Given the description of an element on the screen output the (x, y) to click on. 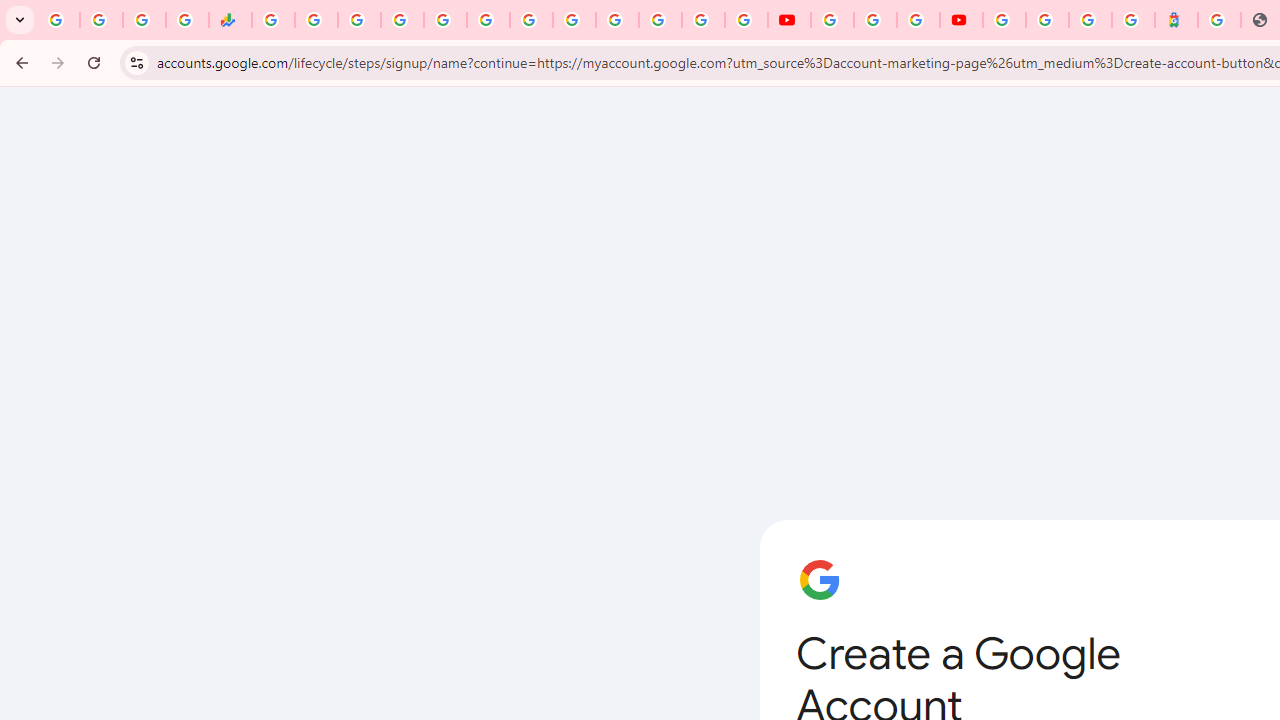
Sign in - Google Accounts (1004, 20)
YouTube (789, 20)
YouTube (832, 20)
Create your Google Account (918, 20)
Sign in - Google Accounts (1047, 20)
Atour Hotel - Google hotels (1176, 20)
Privacy Checkup (745, 20)
Google Account Help (875, 20)
YouTube (574, 20)
